Given the description of an element on the screen output the (x, y) to click on. 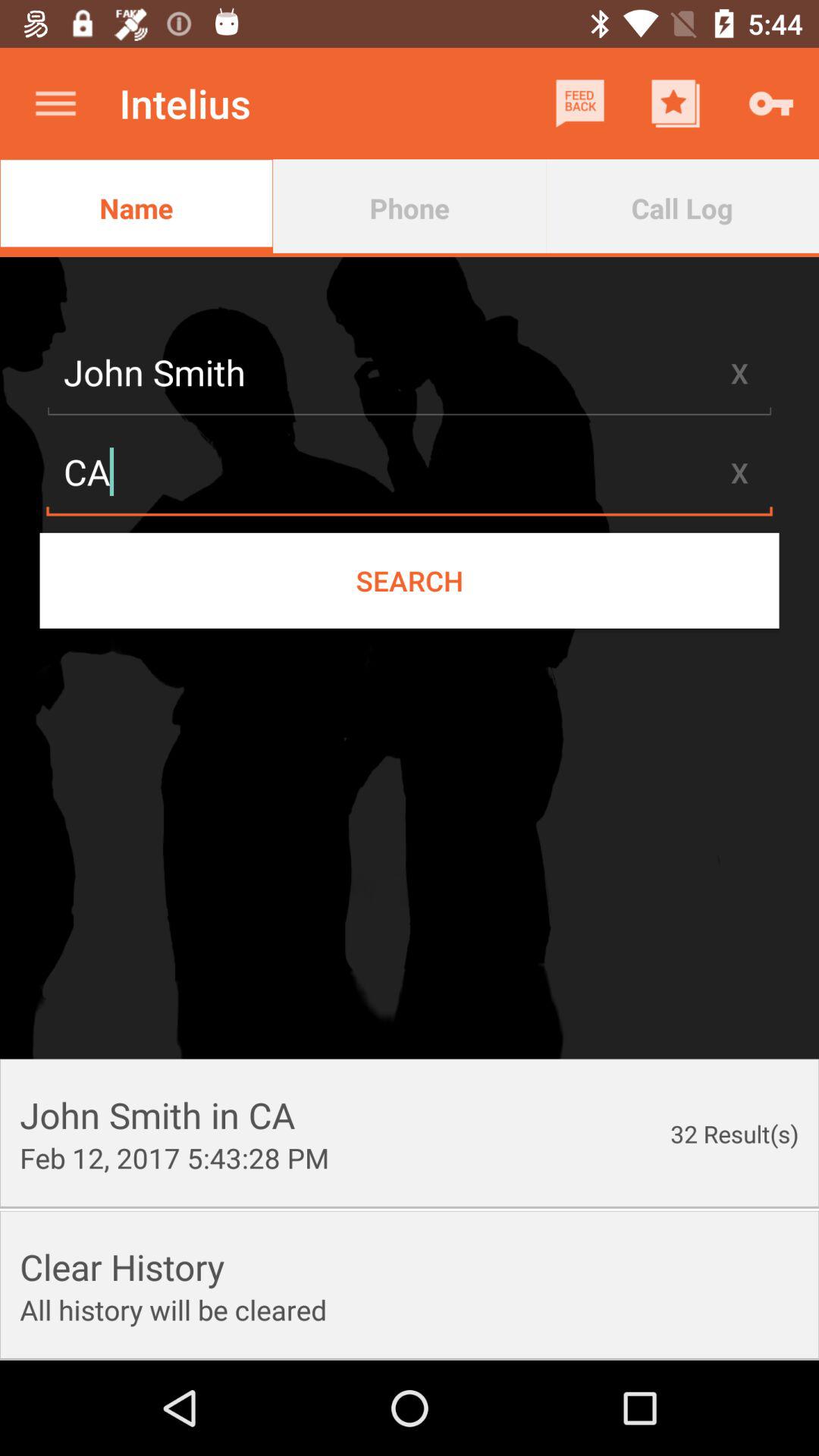
tap the search button (409, 580)
